Given the description of an element on the screen output the (x, y) to click on. 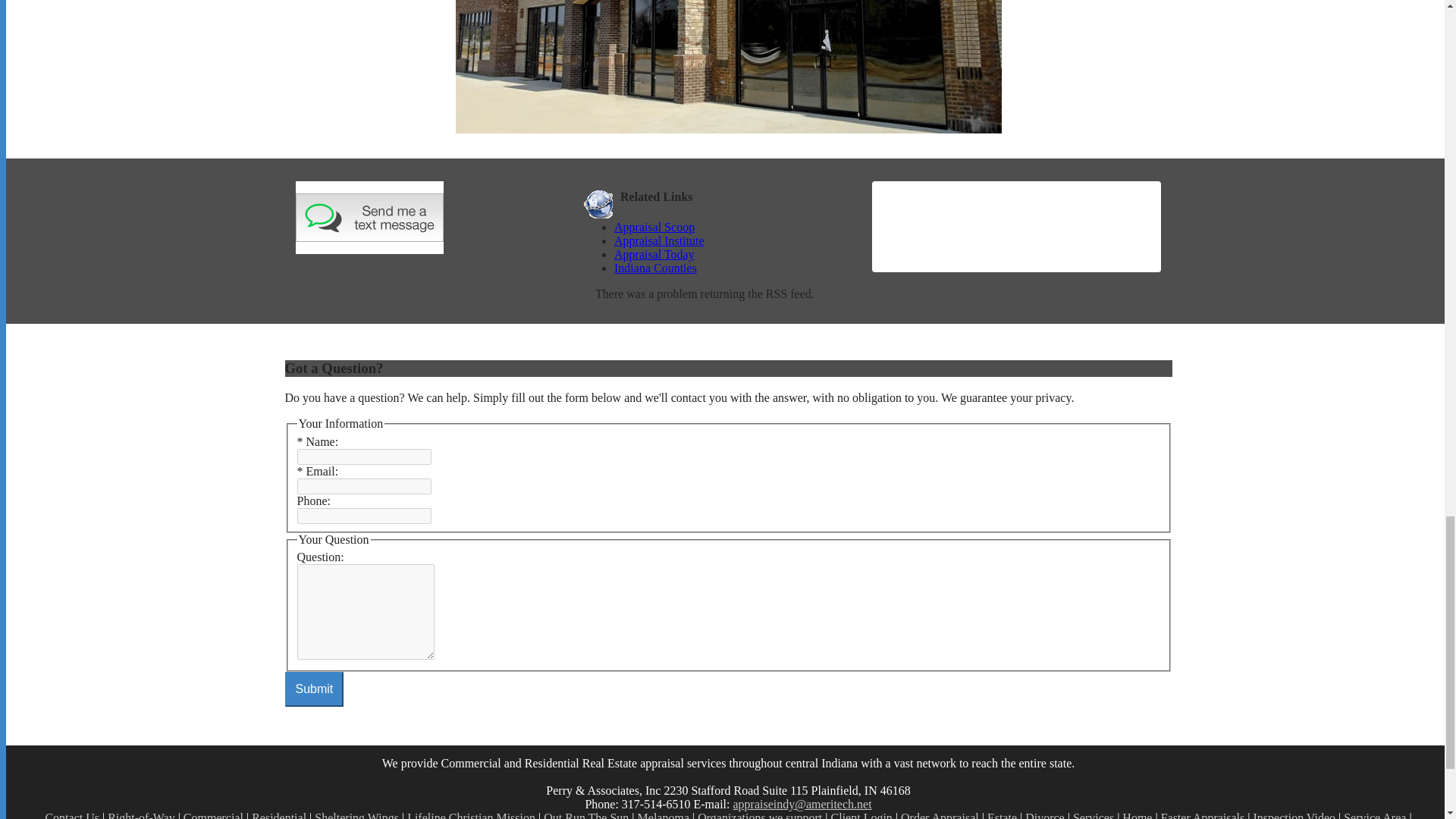
Appraisal Institute (659, 240)
Indiana Counties (655, 267)
Appraisal Institute (732, 241)
Appraisal Scoop (654, 226)
Submit (314, 688)
Appraisal Scoop (732, 227)
Indiana Counties (732, 268)
Appraisal Today (732, 254)
Appraisal Today (654, 254)
